Given the description of an element on the screen output the (x, y) to click on. 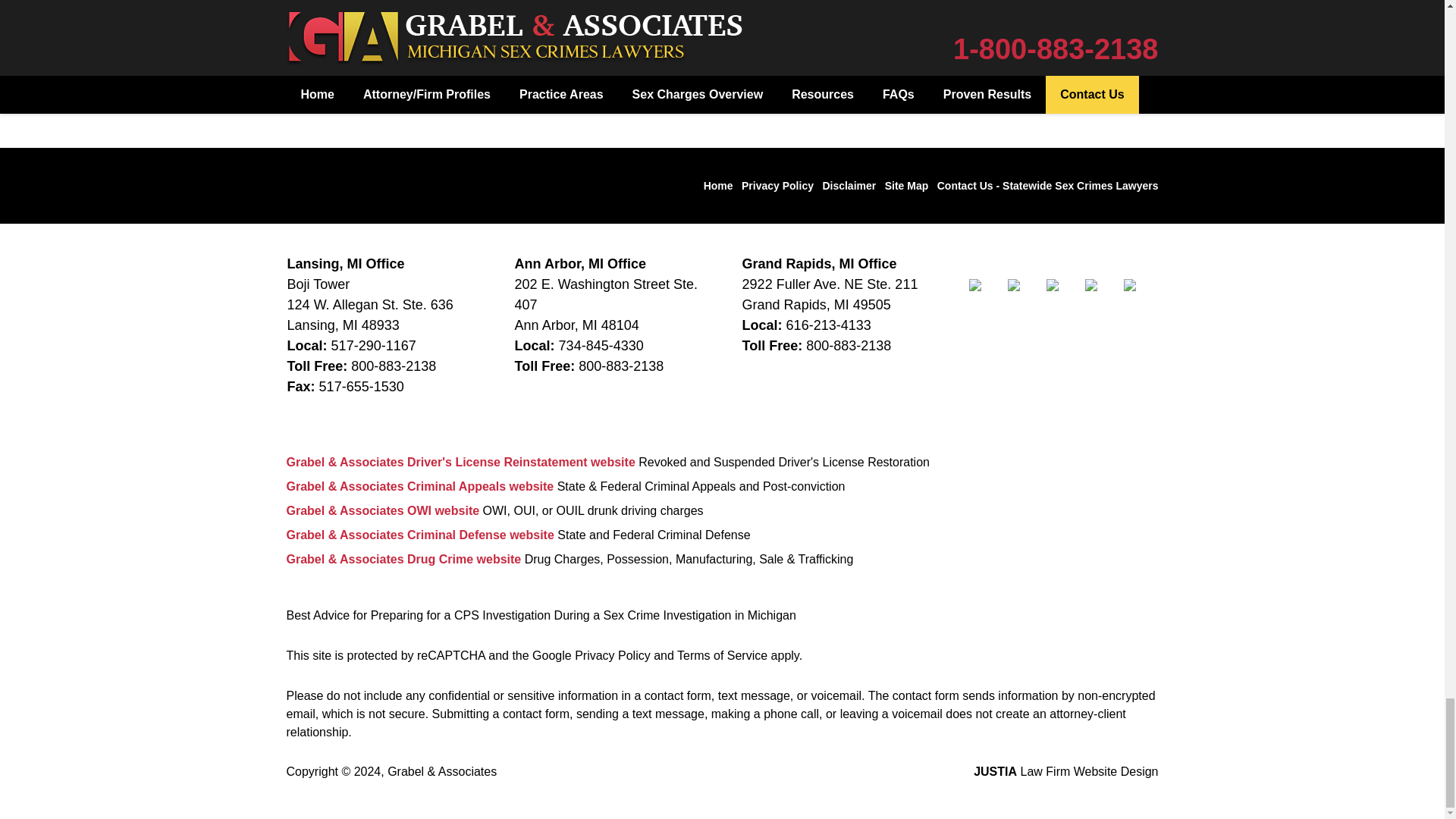
LinkedIn (1063, 296)
Facebook (986, 296)
Twitter (1024, 296)
Justia (1101, 296)
YouTube (1141, 296)
